Given the description of an element on the screen output the (x, y) to click on. 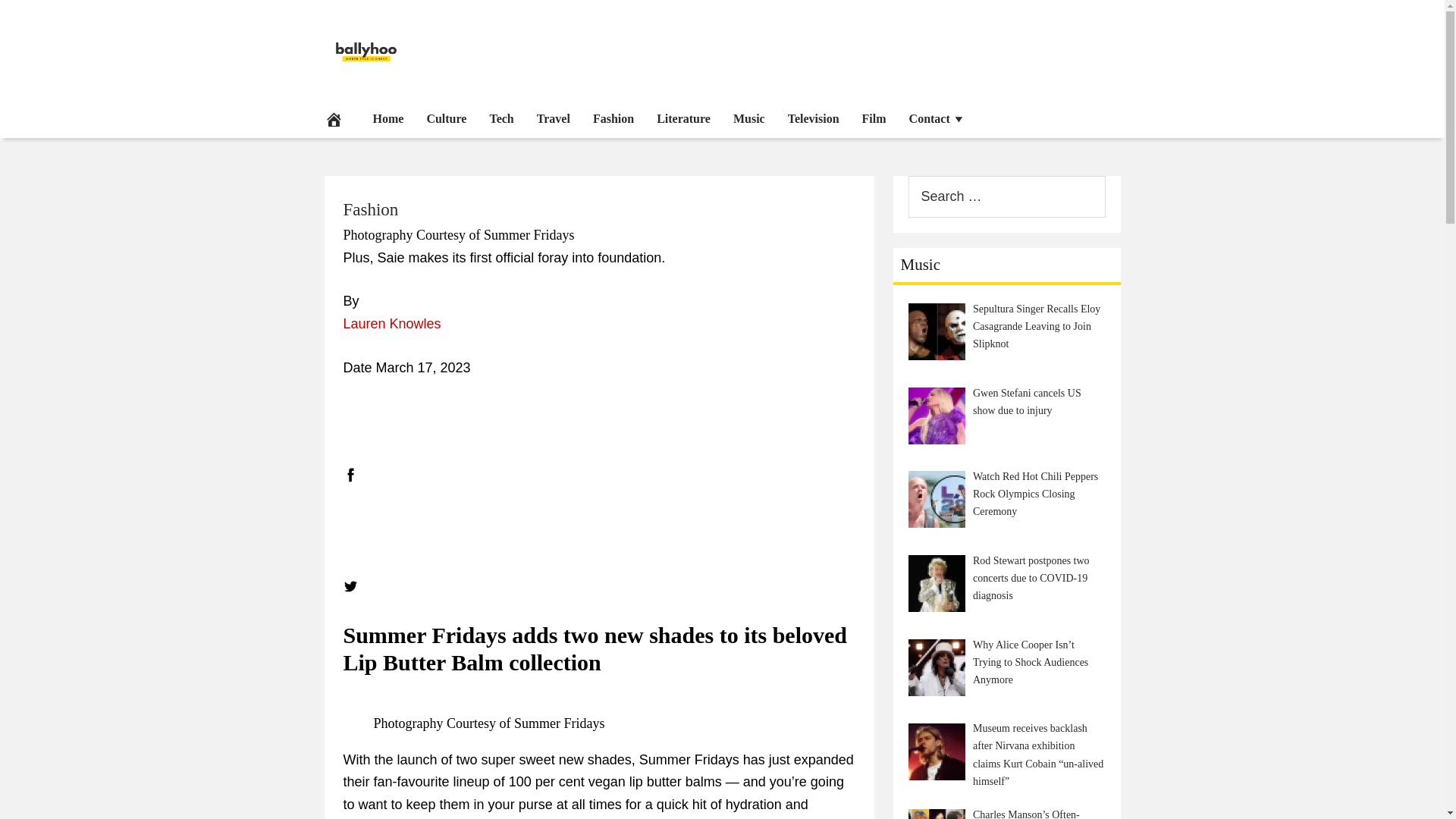
Music (749, 118)
Watch Red Hot Chili Peppers Rock Olympics Closing Ceremony (936, 498)
Fashion (612, 118)
Fashion (369, 209)
Travel (552, 118)
Television (813, 118)
Home (387, 118)
Contact (937, 118)
Culture (445, 118)
